Given the description of an element on the screen output the (x, y) to click on. 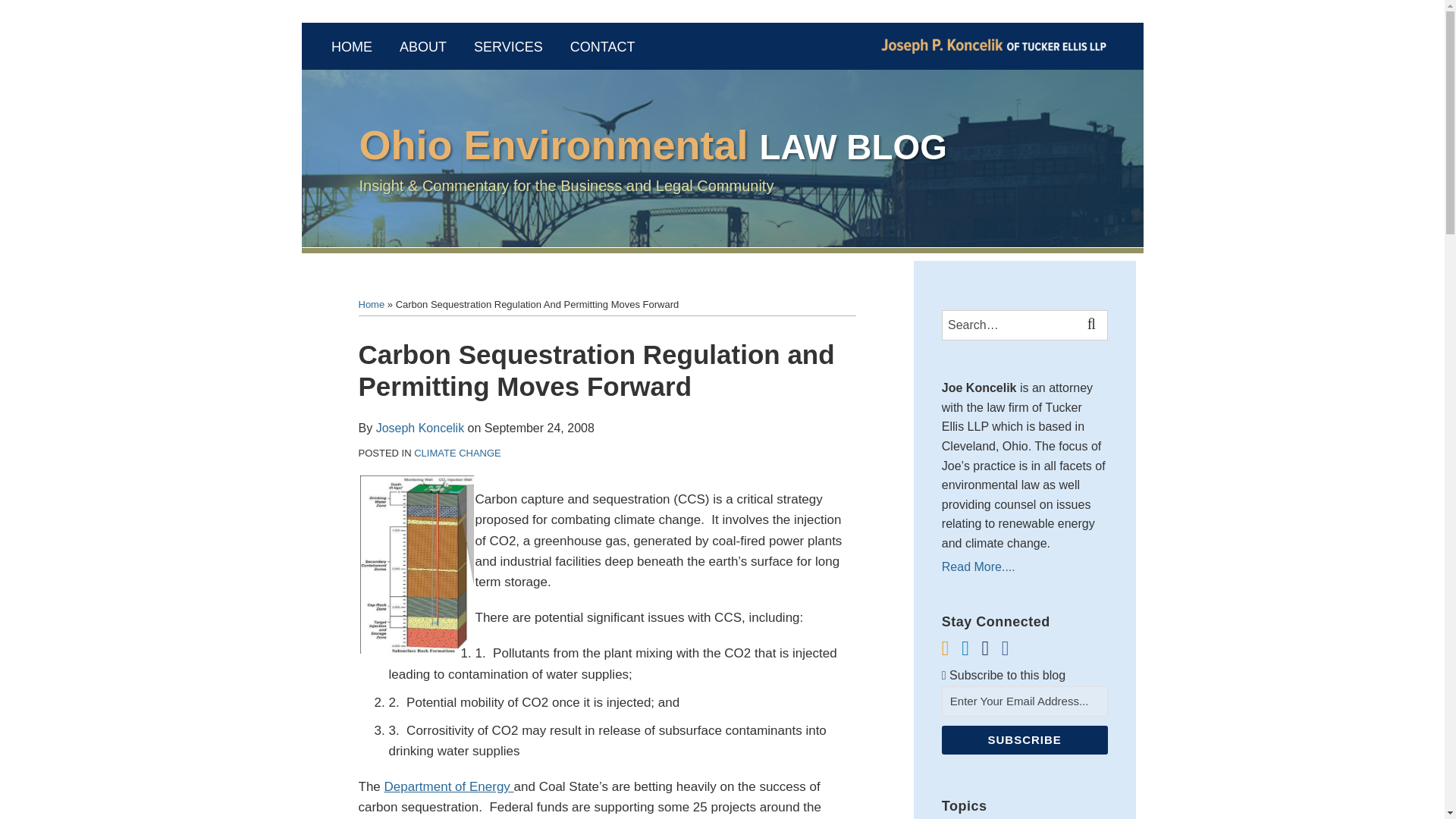
Ohio Environmental LAW BLOG (653, 144)
Home (371, 304)
HOME (351, 46)
SERVICES (508, 46)
Subscribe (1025, 739)
Read More.... (1025, 566)
ABOUT (422, 46)
CLIMATE CHANGE (456, 452)
Department of Energy (448, 786)
SEARCH (1093, 325)
